Given the description of an element on the screen output the (x, y) to click on. 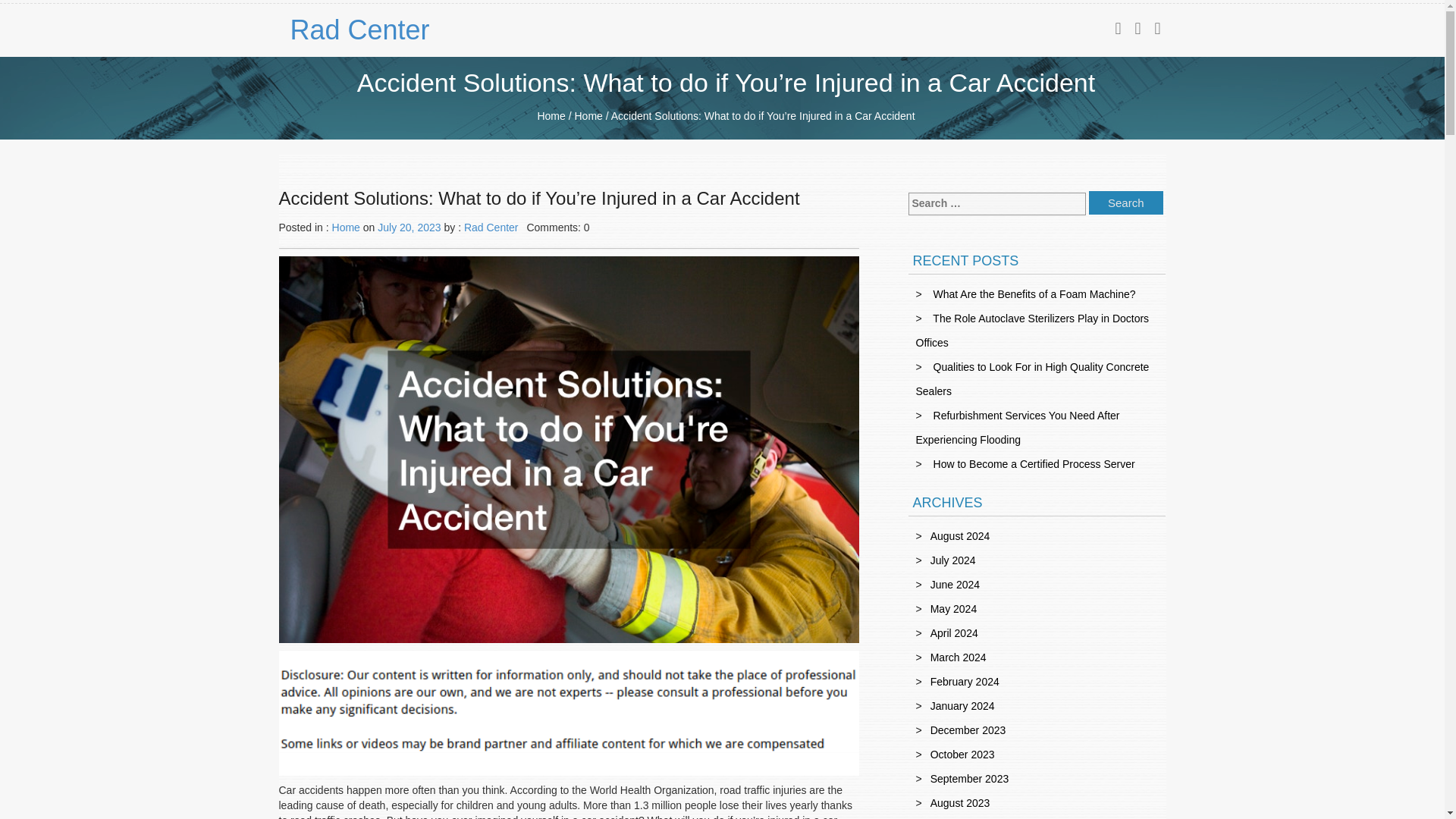
April 2024 (954, 633)
The Role Autoclave Sterilizers Play in Doctors Offices (1032, 330)
July 2024 (952, 560)
July 20, 2023 (409, 227)
March 2024 (958, 657)
January 2024 (962, 705)
Qualities to Look For in High Quality Concrete Sealers (1032, 379)
Search (1126, 202)
Home (345, 227)
Home (550, 115)
